Given the description of an element on the screen output the (x, y) to click on. 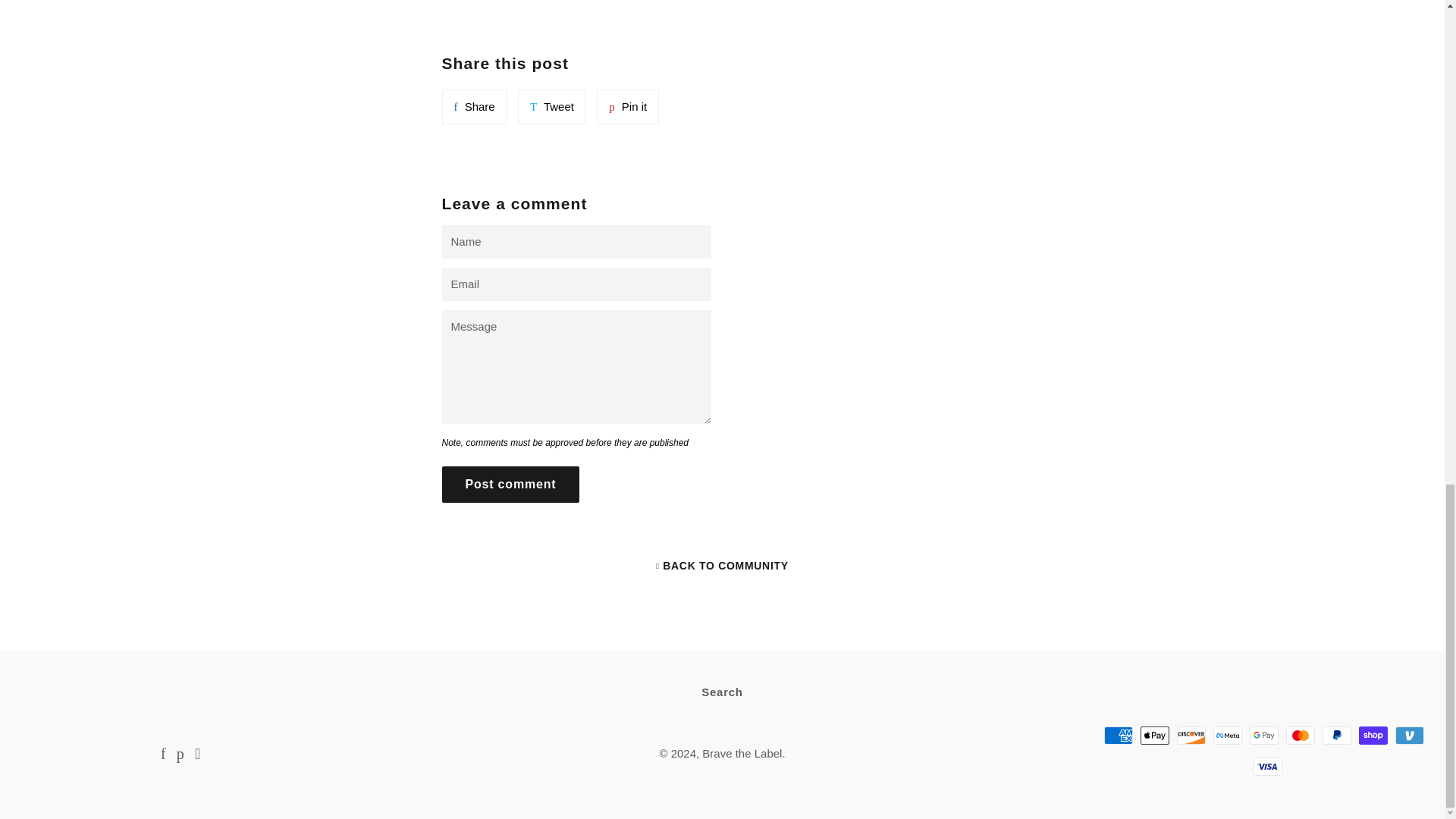
Shop Pay (1372, 735)
American Express (1117, 735)
Tweet on Twitter (552, 106)
Mastercard (552, 106)
Post comment (1299, 735)
Pin on Pinterest (510, 484)
Brave the Label (627, 106)
Share on Facebook (741, 753)
Visa (473, 106)
